Given the description of an element on the screen output the (x, y) to click on. 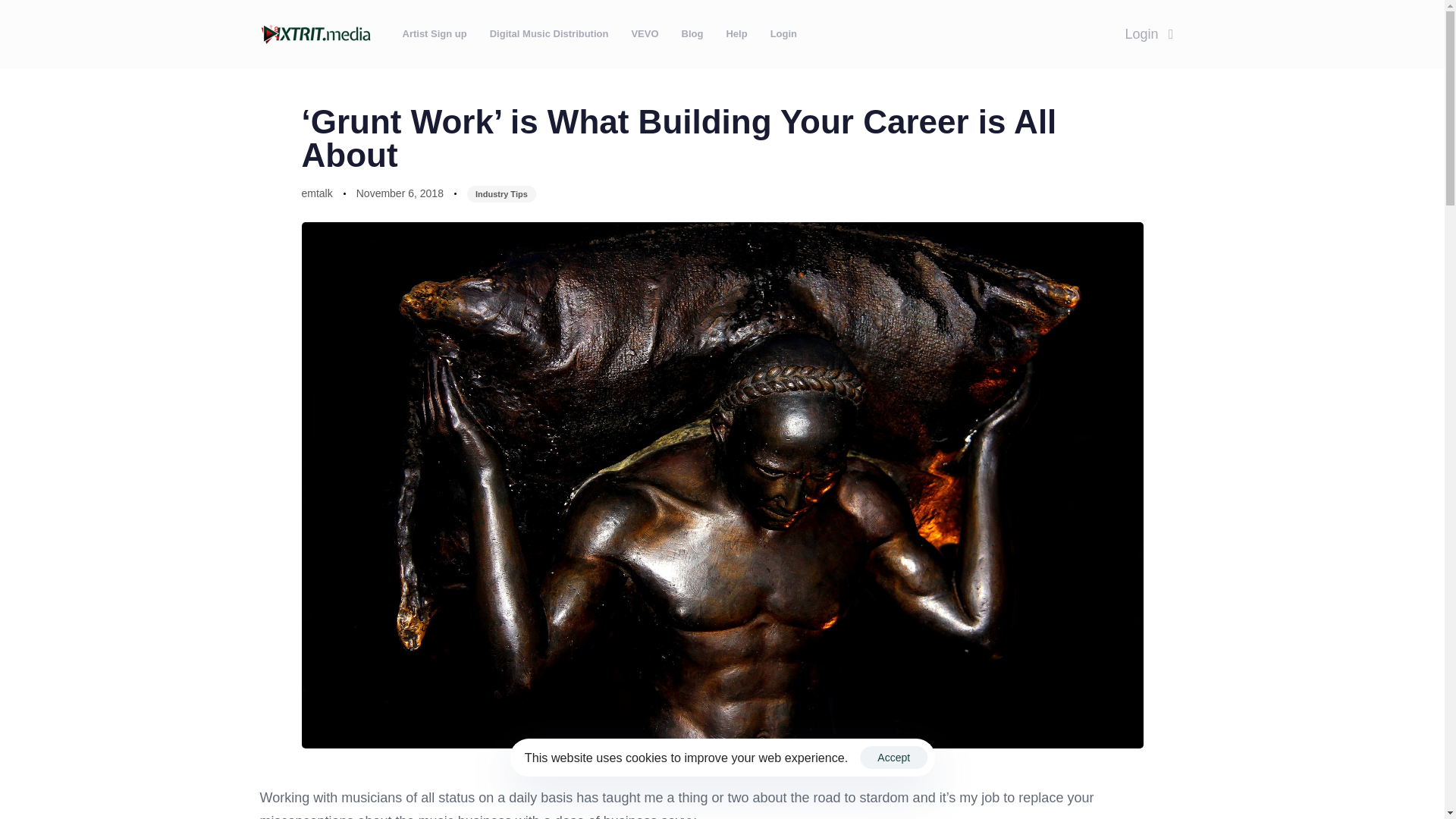
Digital Music Distribution (549, 33)
Posts by emtalk (317, 193)
emtalk (317, 193)
Industry Tips (501, 193)
November 6, 2018 (400, 194)
Artist Sign up (435, 33)
Login (1149, 33)
